Given the description of an element on the screen output the (x, y) to click on. 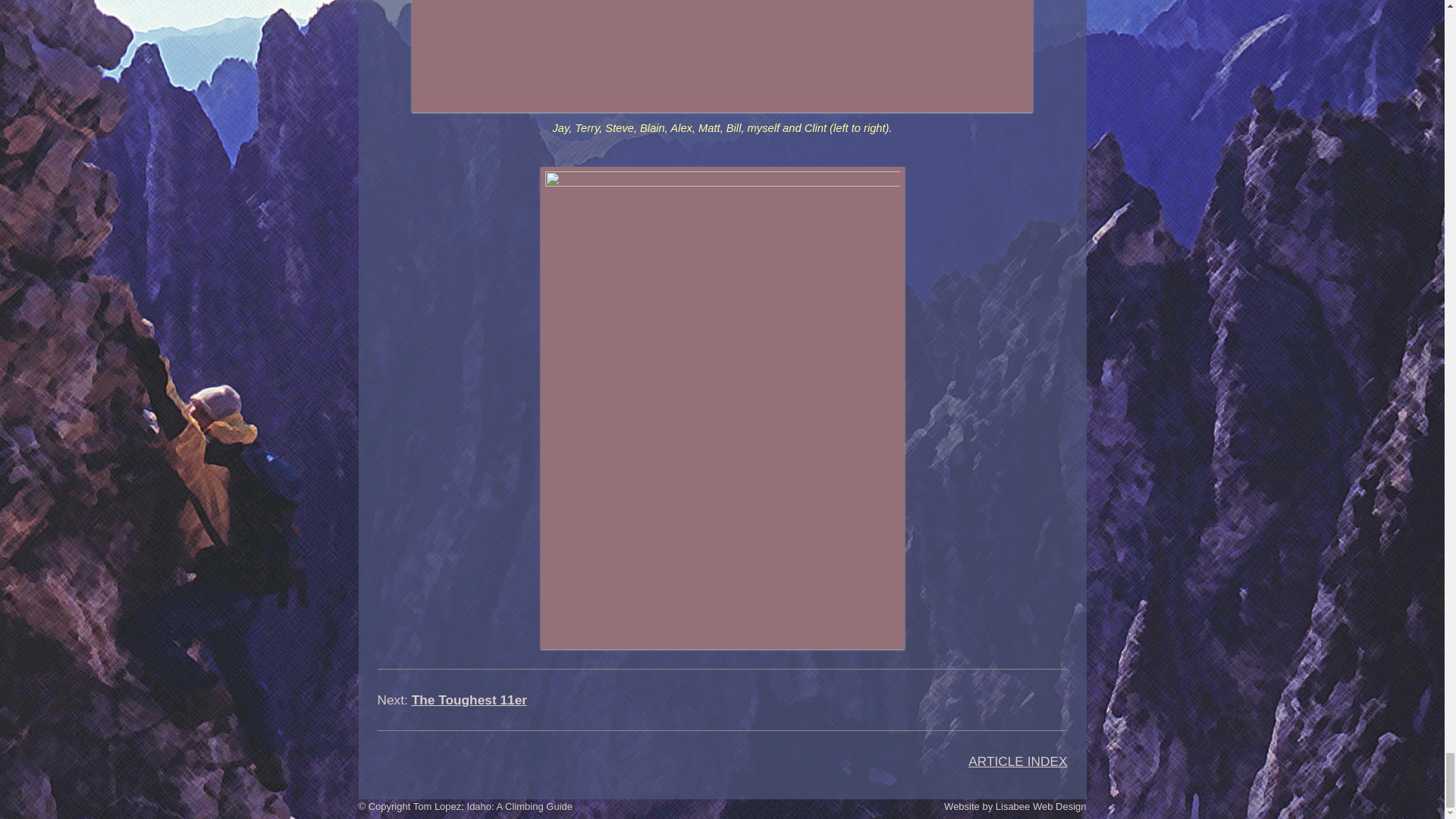
The Toughest 11er (469, 699)
ARTICLE INDEX (1017, 761)
